Given the description of an element on the screen output the (x, y) to click on. 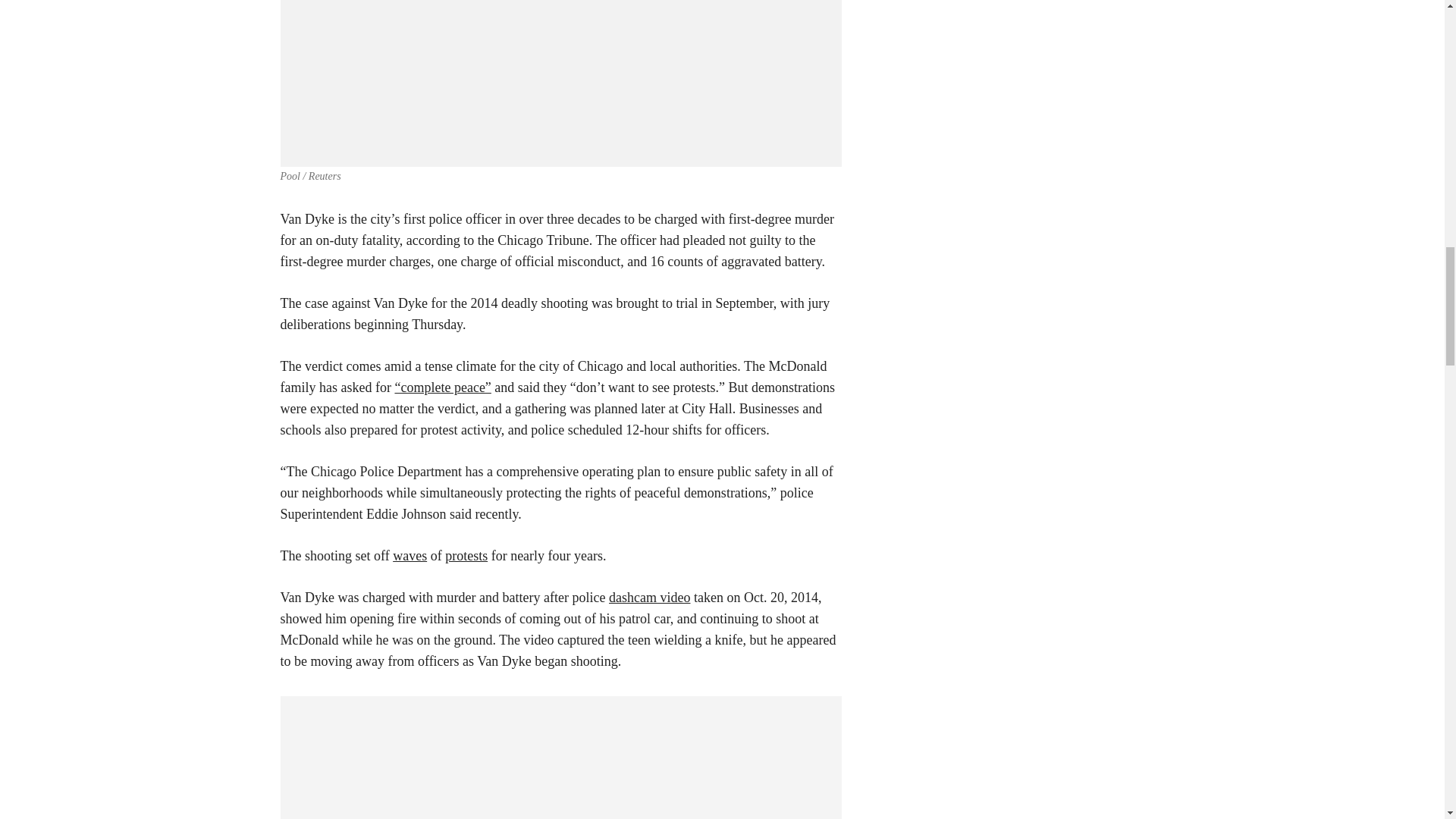
protests (466, 555)
dashcam video (649, 597)
waves (409, 555)
